Given the description of an element on the screen output the (x, y) to click on. 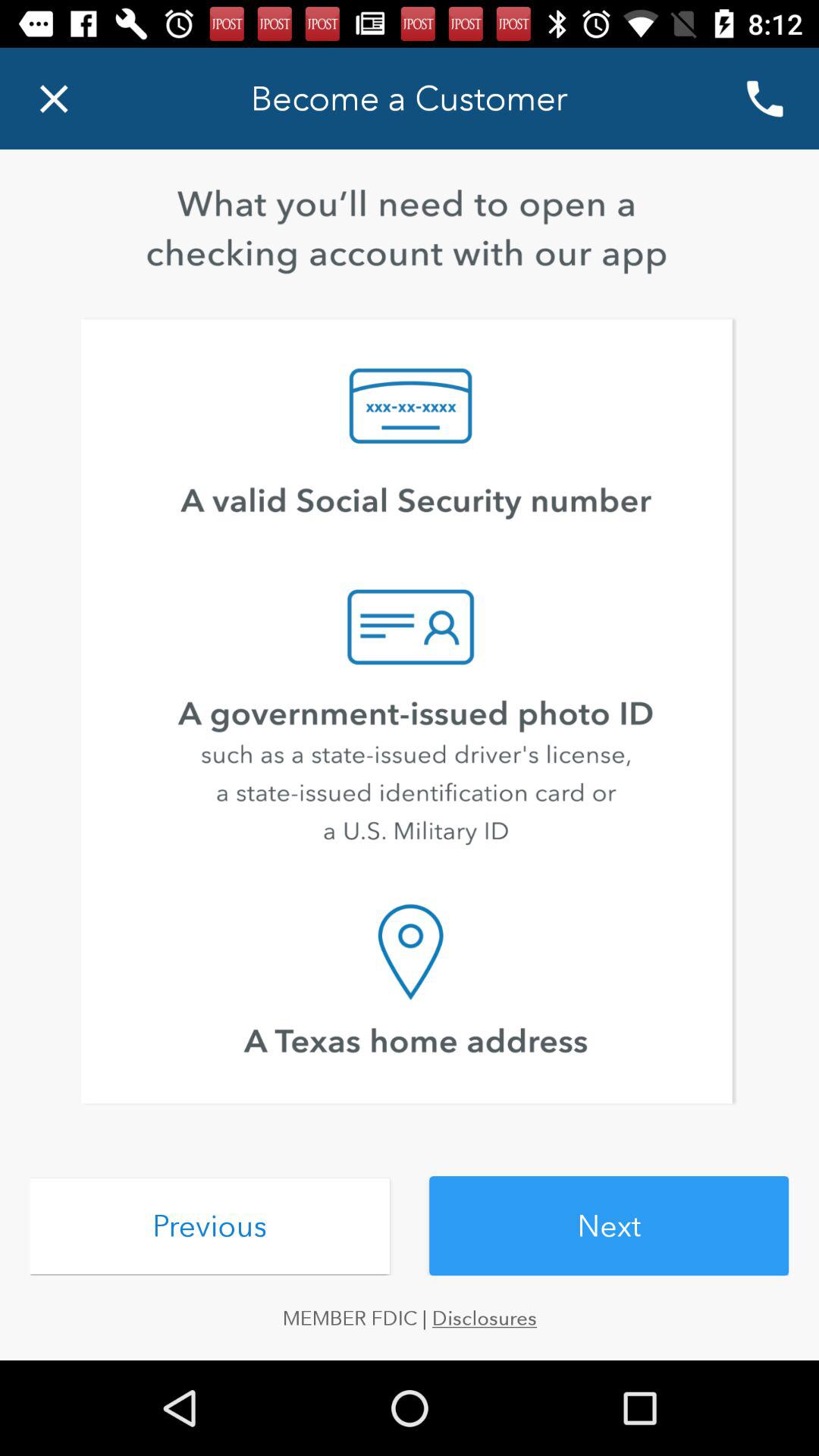
choose icon next to previous item (608, 1225)
